Given the description of an element on the screen output the (x, y) to click on. 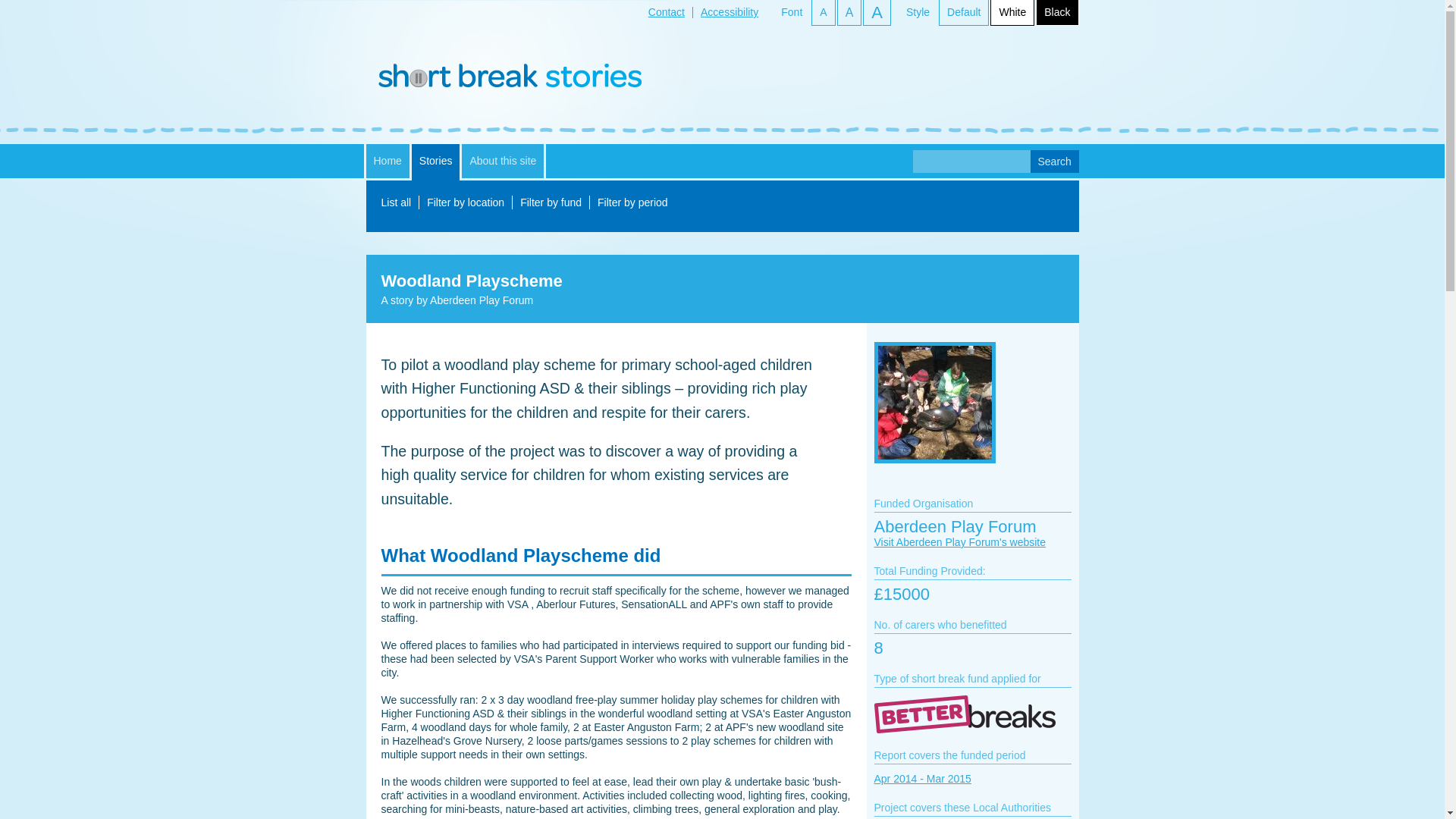
Woodland Playscheme (941, 474)
Black (1056, 12)
Default (963, 12)
About this site (502, 161)
A (822, 12)
Contact (665, 11)
Search (1053, 160)
Short Break Stories (510, 76)
Filter by fund (549, 202)
A (877, 12)
Stories (436, 162)
White (1011, 12)
Home (387, 161)
Accessibility (729, 11)
Filter by location (464, 202)
